Given the description of an element on the screen output the (x, y) to click on. 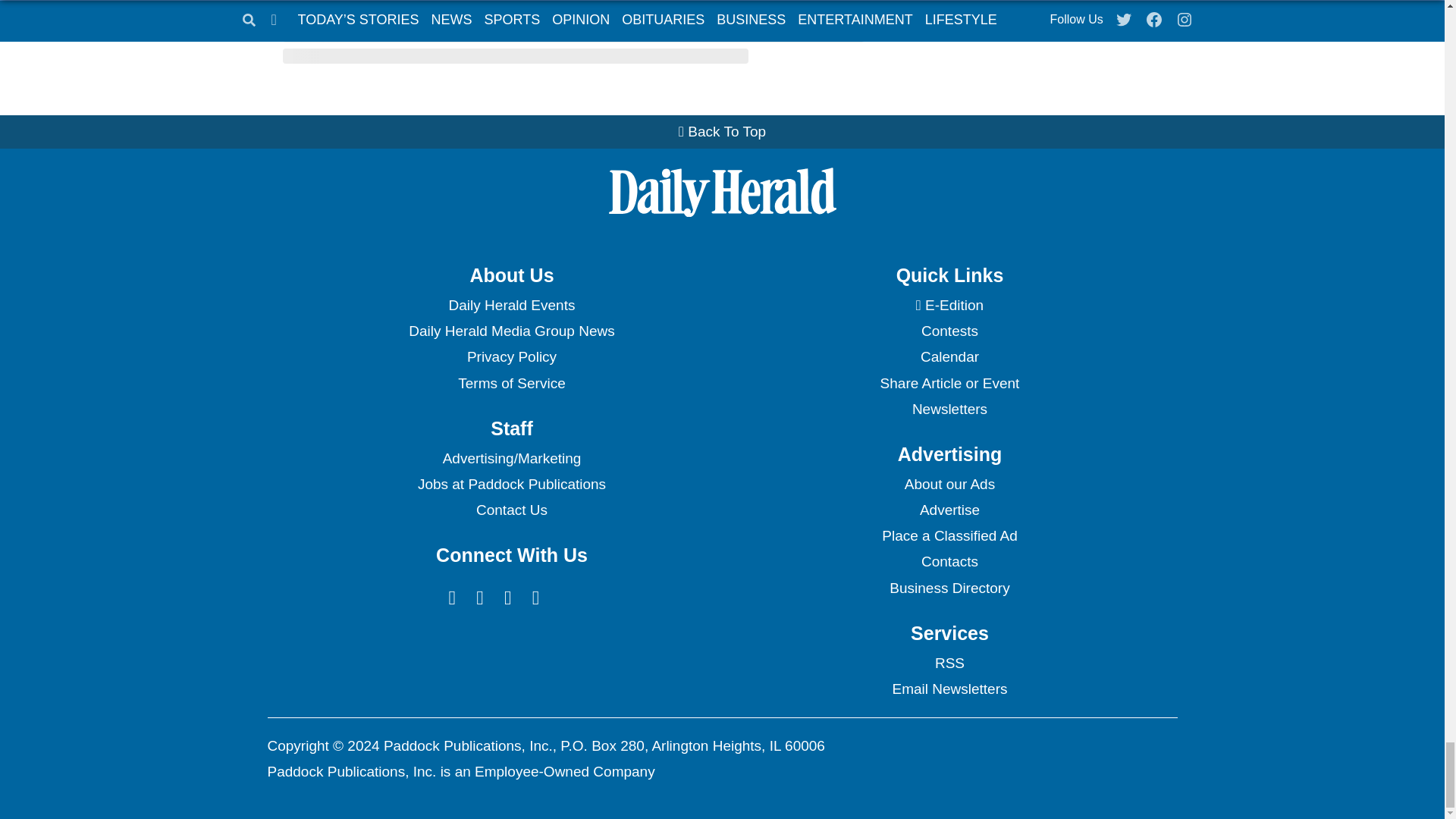
Daily Herald Digital Newspaper (949, 305)
Contact Us (511, 510)
Terms of Service (511, 383)
Privacy Policy (511, 356)
Daily Herald Media Group News (511, 330)
Daily Herald Events (511, 305)
Contests (949, 330)
Jobs at Paddock Publications (511, 484)
